Given the description of an element on the screen output the (x, y) to click on. 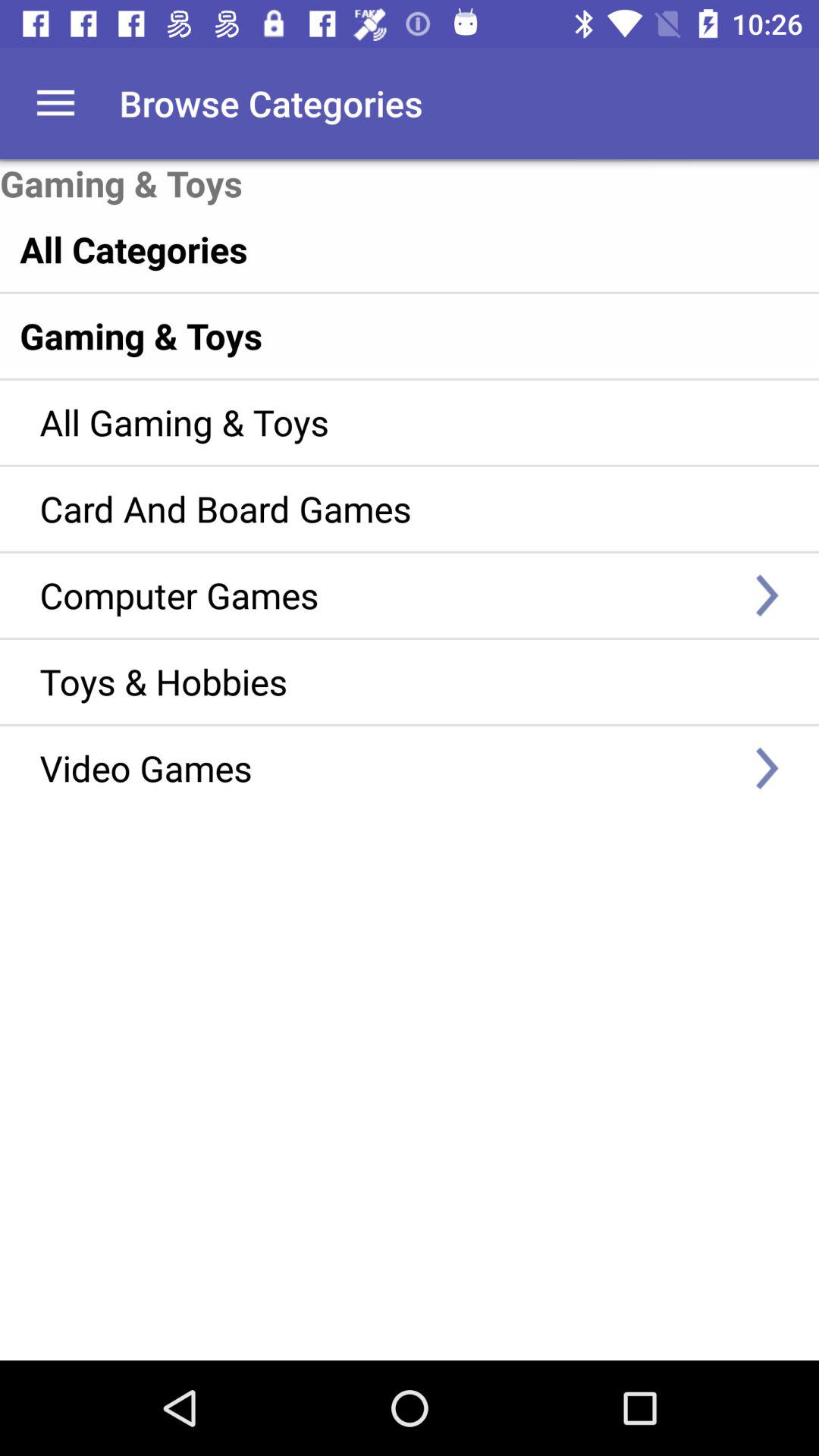
turn off the card and board (387, 508)
